Given the description of an element on the screen output the (x, y) to click on. 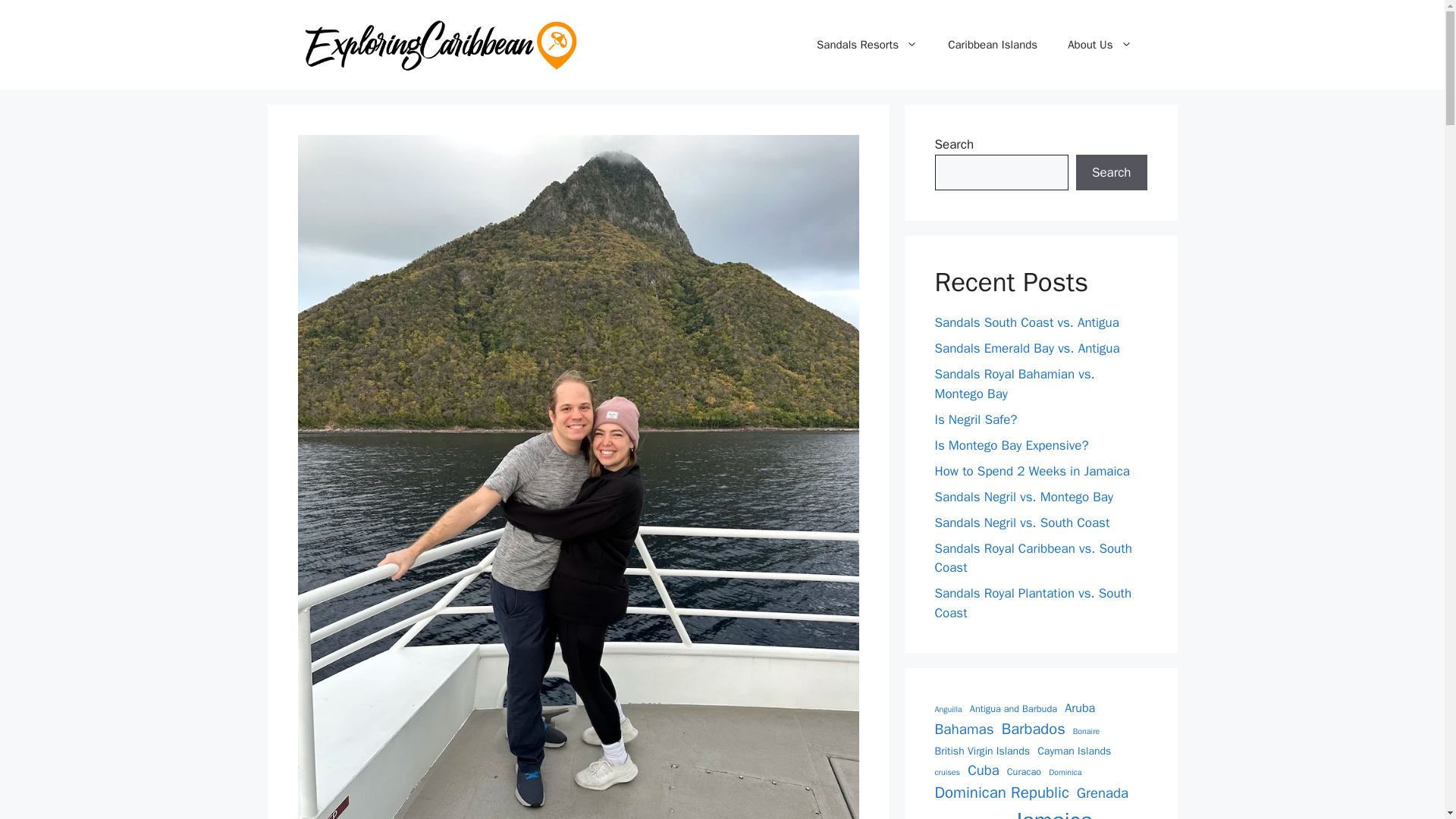
Sandals South Coast vs. Antigua (1026, 322)
Barbados (1033, 729)
Cuba (983, 771)
cruises (946, 772)
Sandals Negril vs. Montego Bay (1023, 496)
Bahamas (963, 729)
Sandals Resorts (867, 44)
Sandals Royal Plantation vs. South Coast (1032, 602)
Antigua and Barbuda (1013, 708)
Sandals Royal Bahamian vs. Montego Bay (1014, 384)
